Given the description of an element on the screen output the (x, y) to click on. 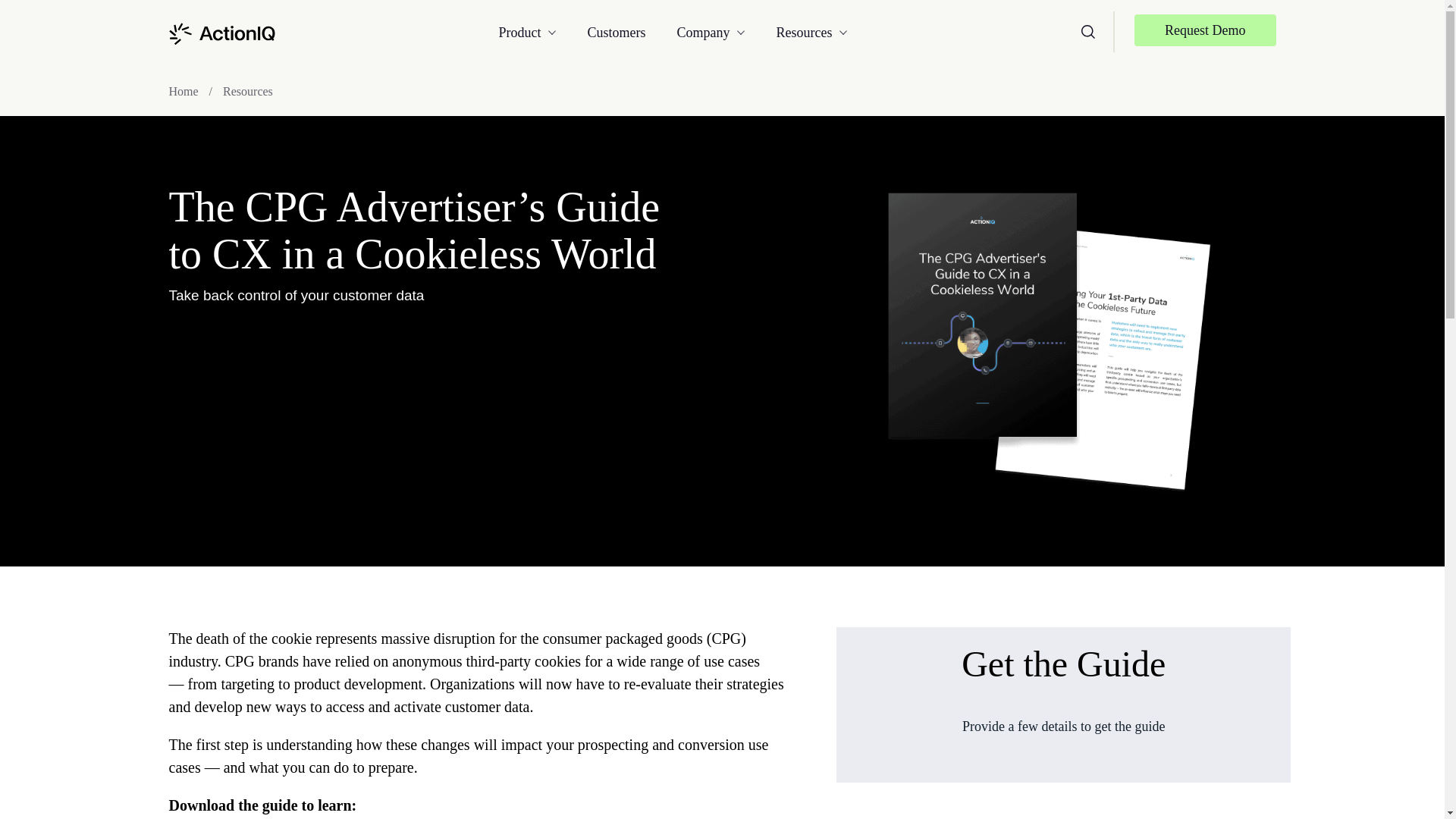
ActionIQ Logo (221, 33)
ActionIQ Homepage Link (221, 32)
Search Icon (1087, 31)
